Given the description of an element on the screen output the (x, y) to click on. 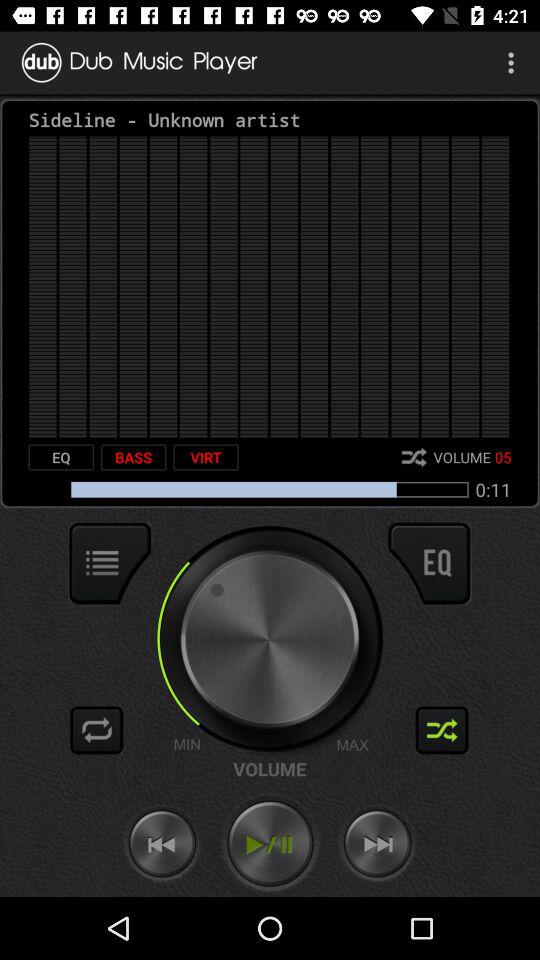
open eq (429, 563)
